Given the description of an element on the screen output the (x, y) to click on. 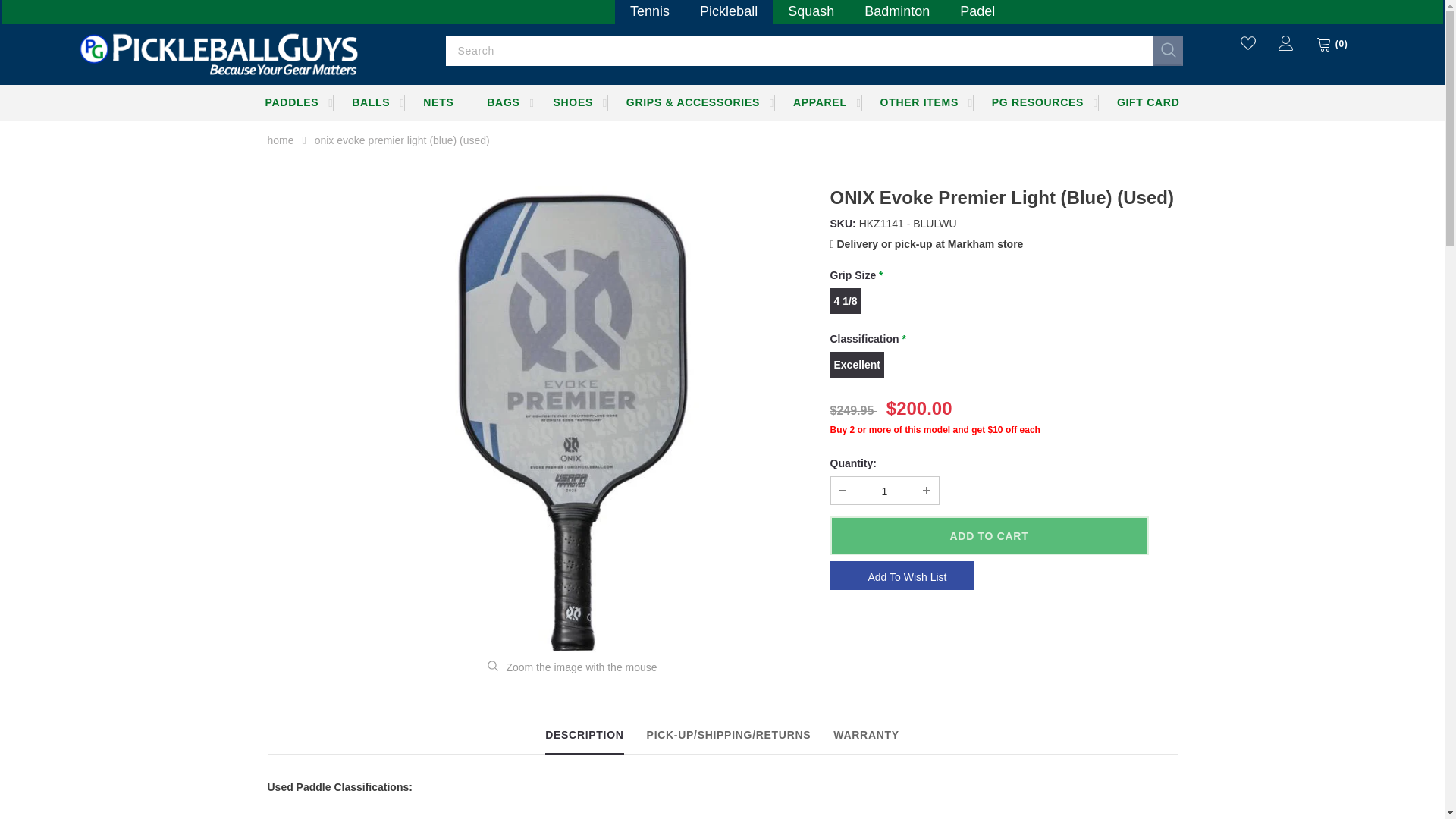
Badminton (896, 9)
Tennis (649, 9)
PADDLES (292, 102)
Squash (810, 9)
1 (885, 490)
Add to Cart (988, 535)
Logo (217, 52)
user (1286, 46)
user (1286, 43)
Cart (1332, 43)
Pickleball (728, 9)
Padel (977, 9)
